Given the description of an element on the screen output the (x, y) to click on. 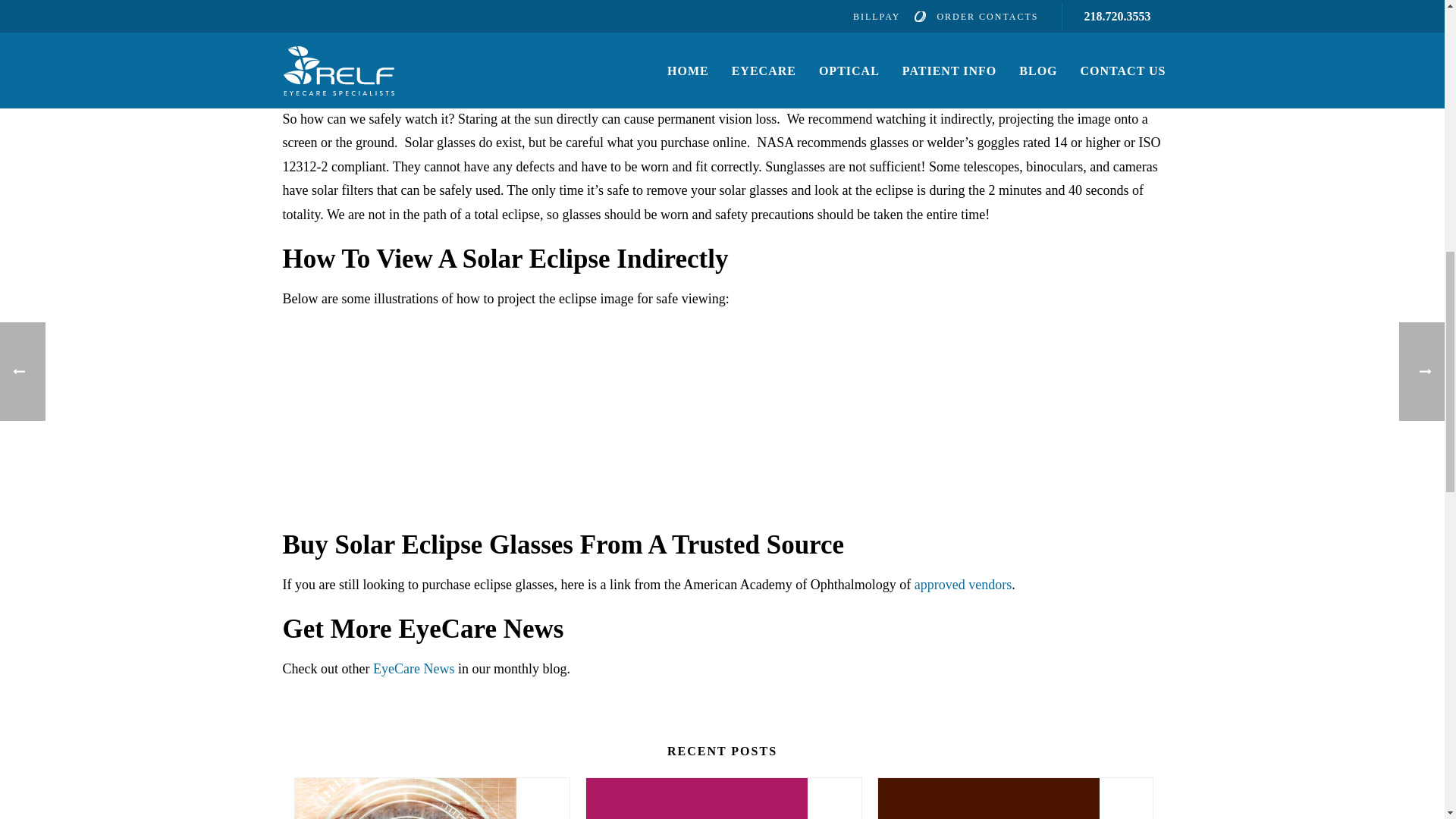
Solar Eclipse 2024 (1015, 798)
Nonverbal Eye Exams (723, 798)
